Given the description of an element on the screen output the (x, y) to click on. 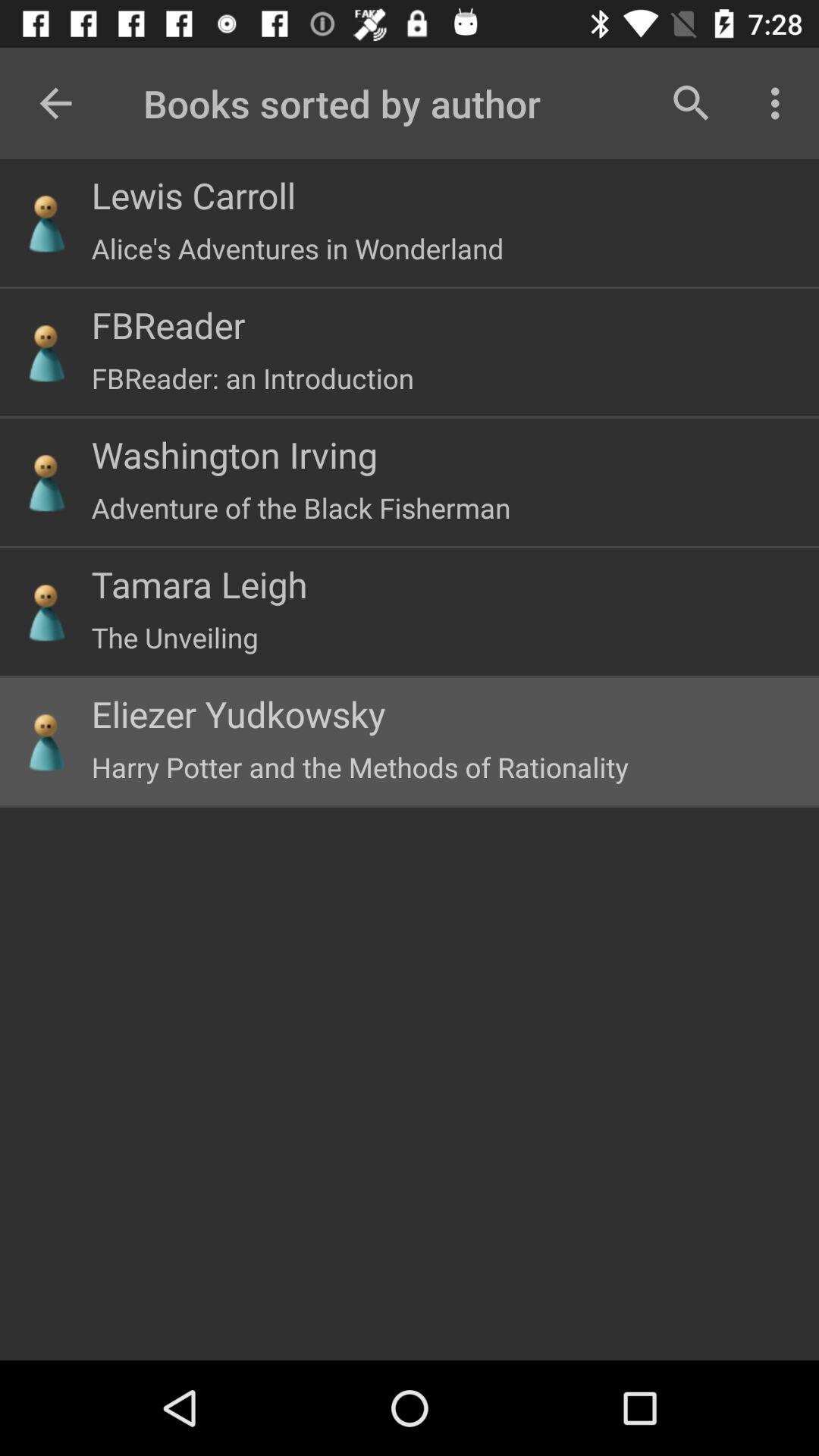
choose the item to the left of books sorted by item (55, 103)
